Given the description of an element on the screen output the (x, y) to click on. 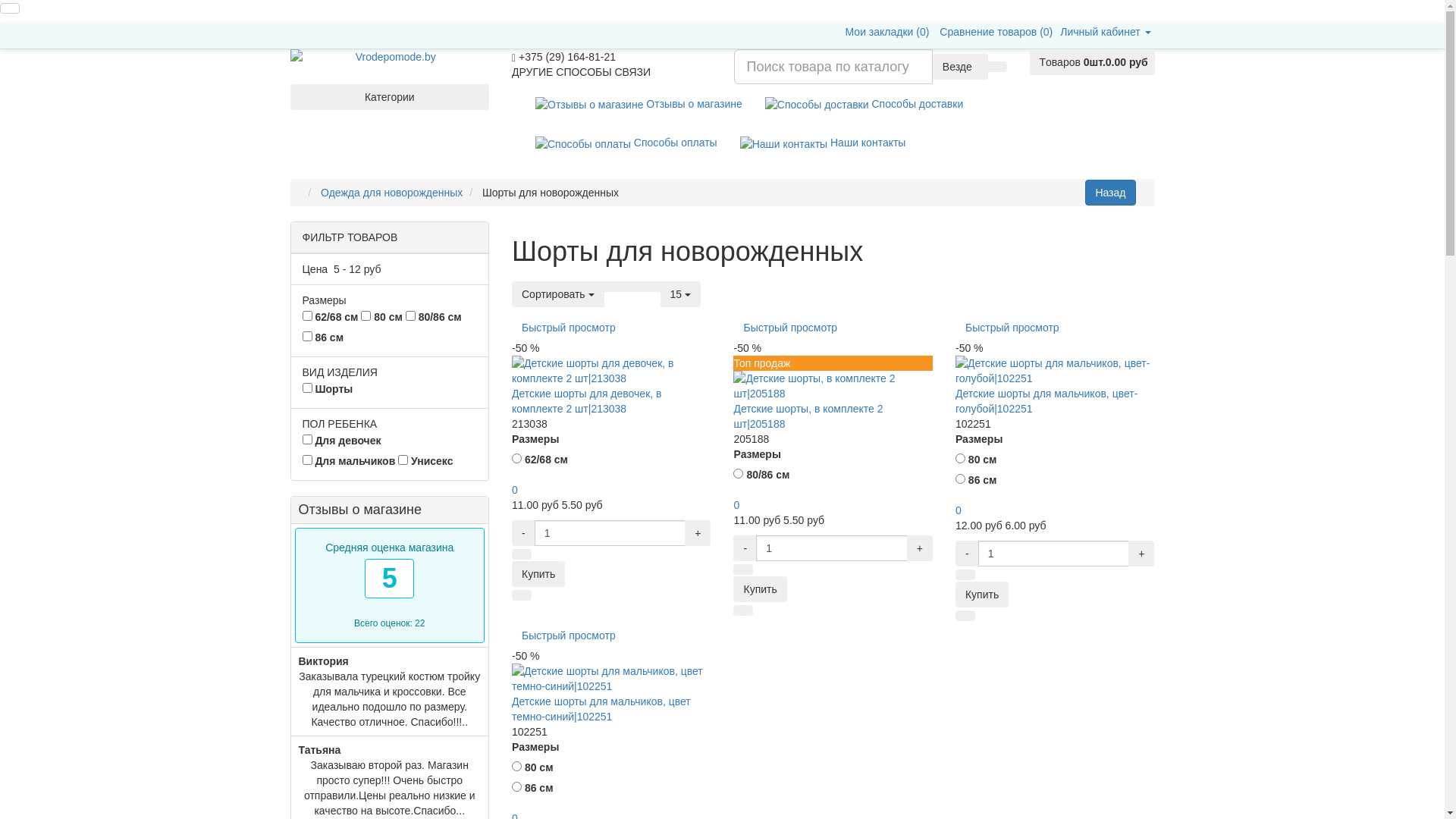
Vrodepomode.by Element type: hover (389, 56)
0 Element type: text (736, 504)
- Element type: text (523, 533)
- Element type: text (744, 548)
+ Element type: text (697, 533)
0 Element type: text (958, 510)
+ Element type: text (919, 548)
+ Element type: text (1141, 553)
- Element type: text (967, 553)
15 Element type: text (680, 294)
0 Element type: text (514, 489)
button_price Element type: hover (651, 286)
